Given the description of an element on the screen output the (x, y) to click on. 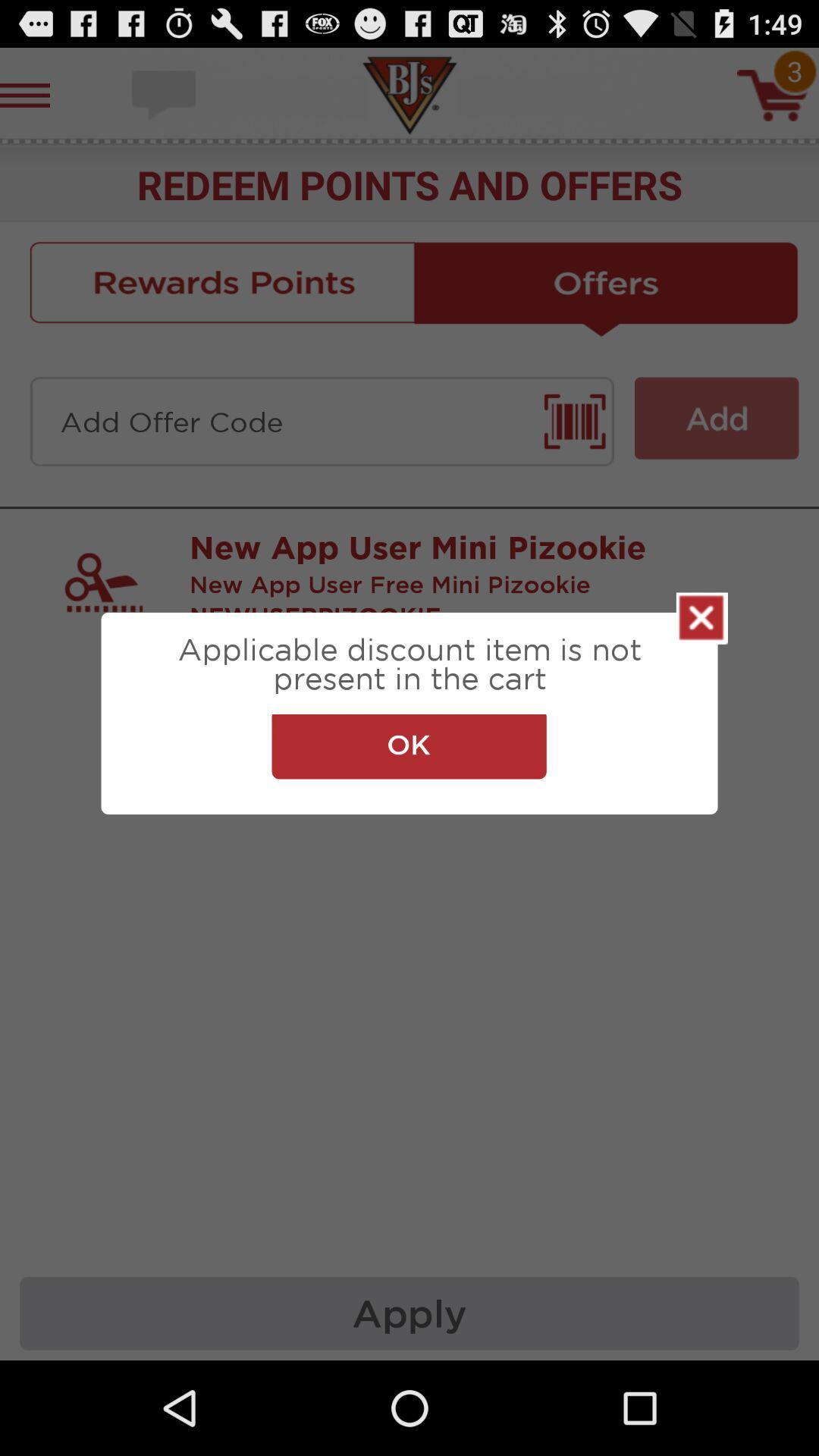
close (702, 618)
